Given the description of an element on the screen output the (x, y) to click on. 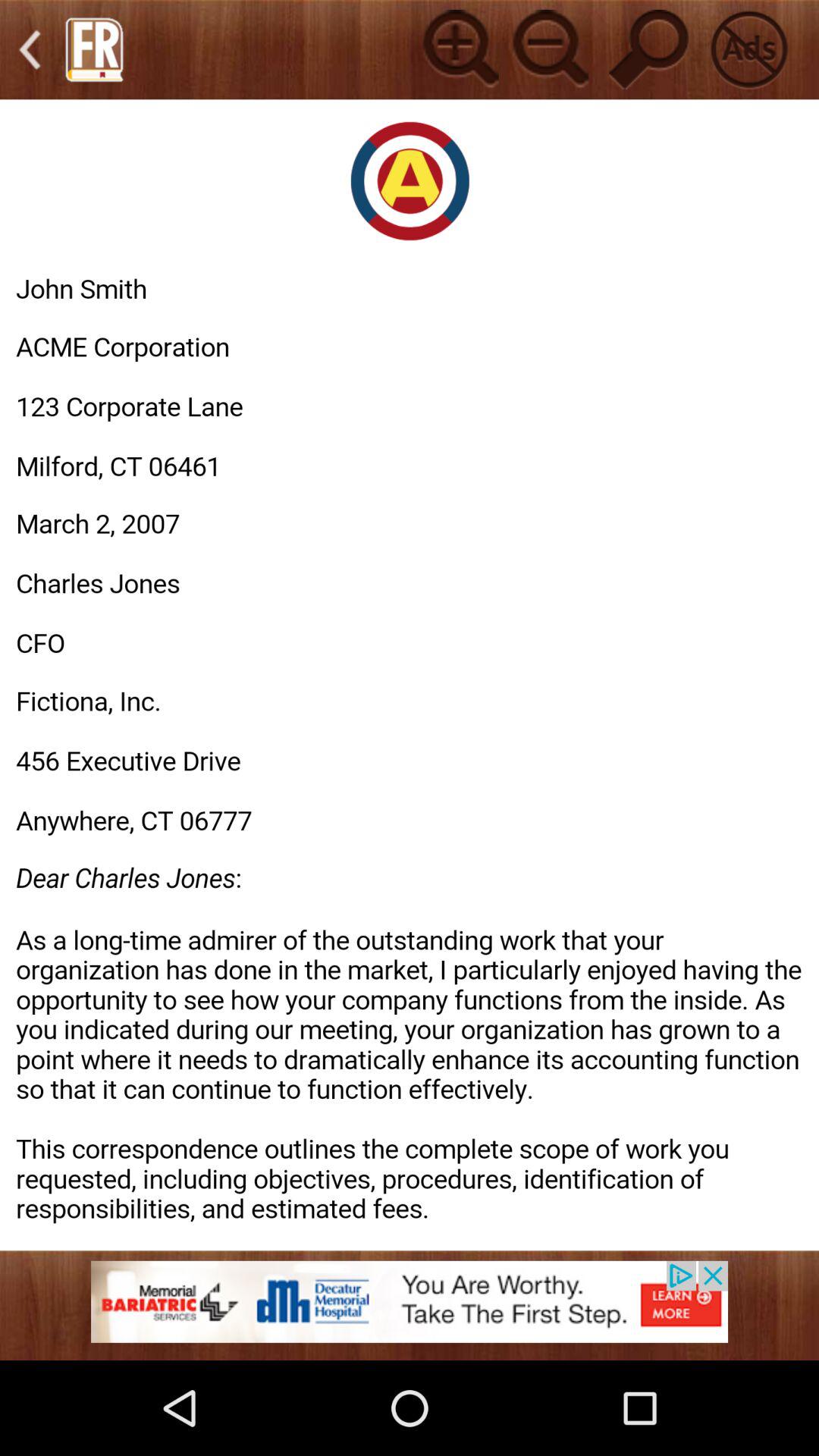
go to previous (29, 49)
